Given the description of an element on the screen output the (x, y) to click on. 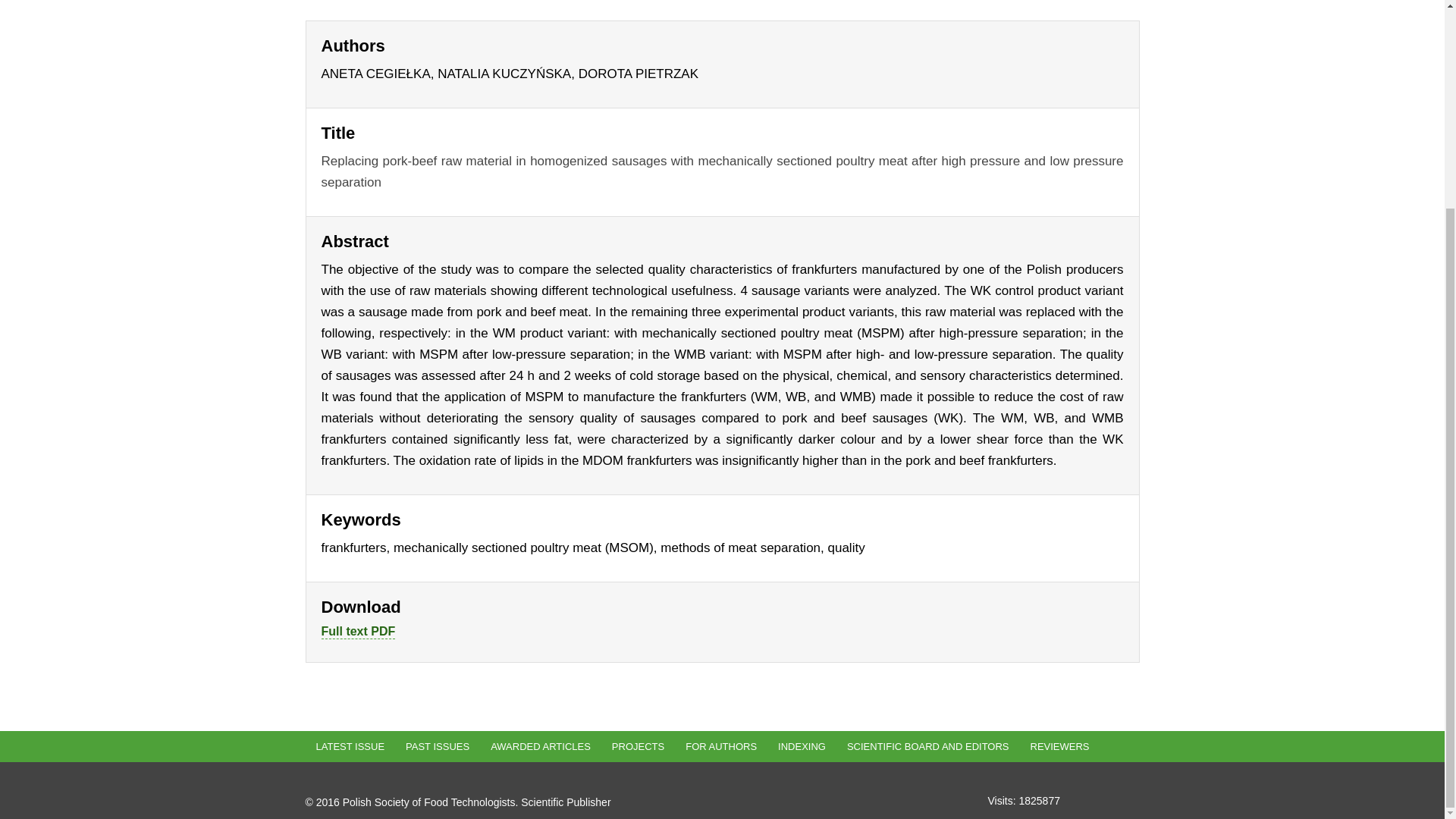
PROJECTS (638, 746)
SCIENTIFIC BOARD AND EDITORS (927, 746)
FOR AUTHORS (721, 746)
AWARDED ARTICLES (540, 746)
Full text PDF (358, 631)
PAST ISSUES (437, 746)
INDEXING (801, 746)
LATEST ISSUE (349, 746)
REVIEWERS (1060, 746)
